Given the description of an element on the screen output the (x, y) to click on. 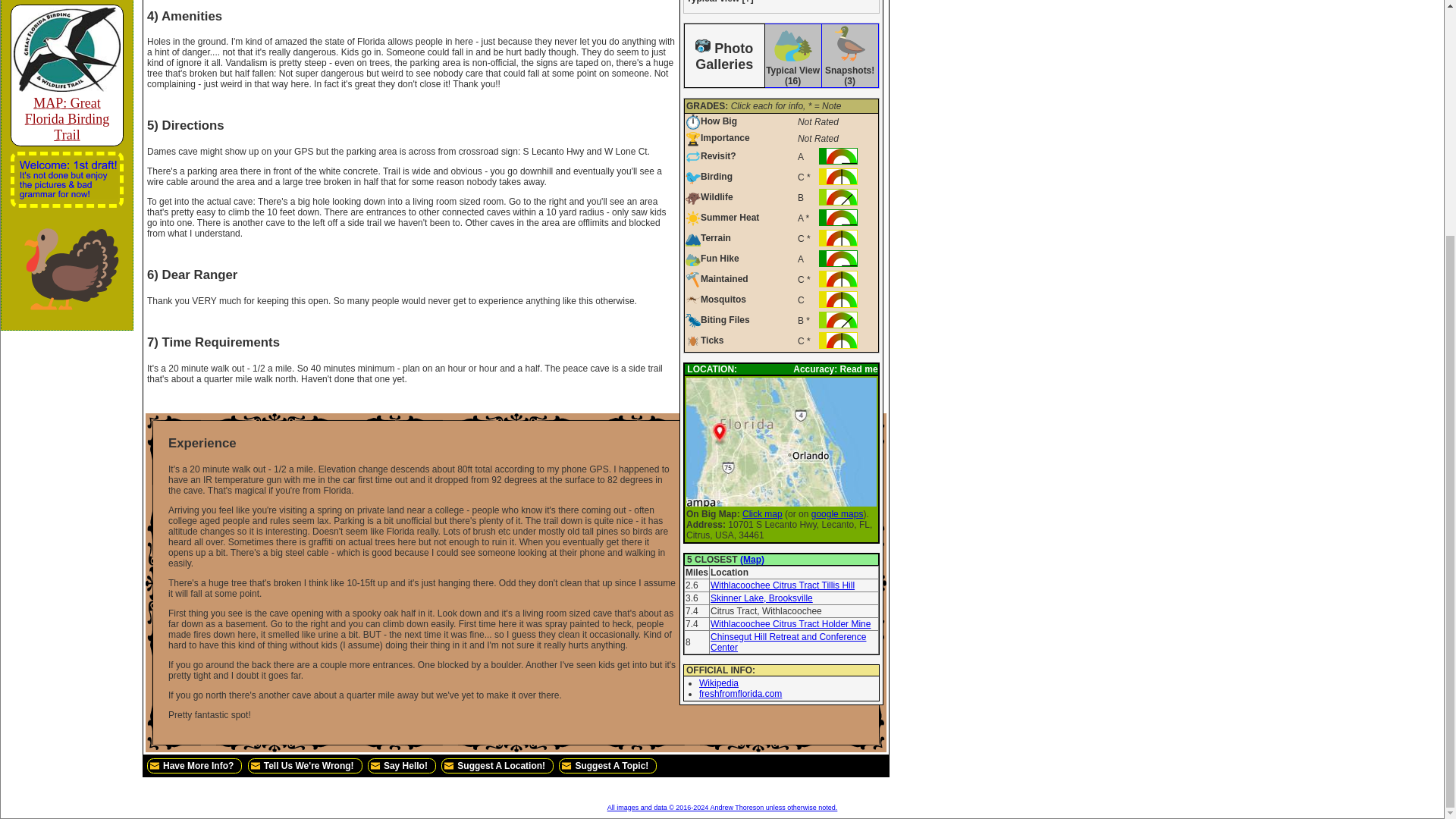
Experience (515, 443)
Withlacoochee Citrus Tract Holder Mine (790, 624)
google maps (836, 513)
freshfromflorida.com (739, 693)
Click map (762, 513)
Skinner Lake, Brooksville (761, 597)
Withlacoochee Citrus Tract Tillis Hill (782, 584)
MAP: Great Florida Birding Trail (66, 110)
Wikipedia (718, 683)
Chinsegut Hill Retreat and Conference Center (788, 641)
